Given the description of an element on the screen output the (x, y) to click on. 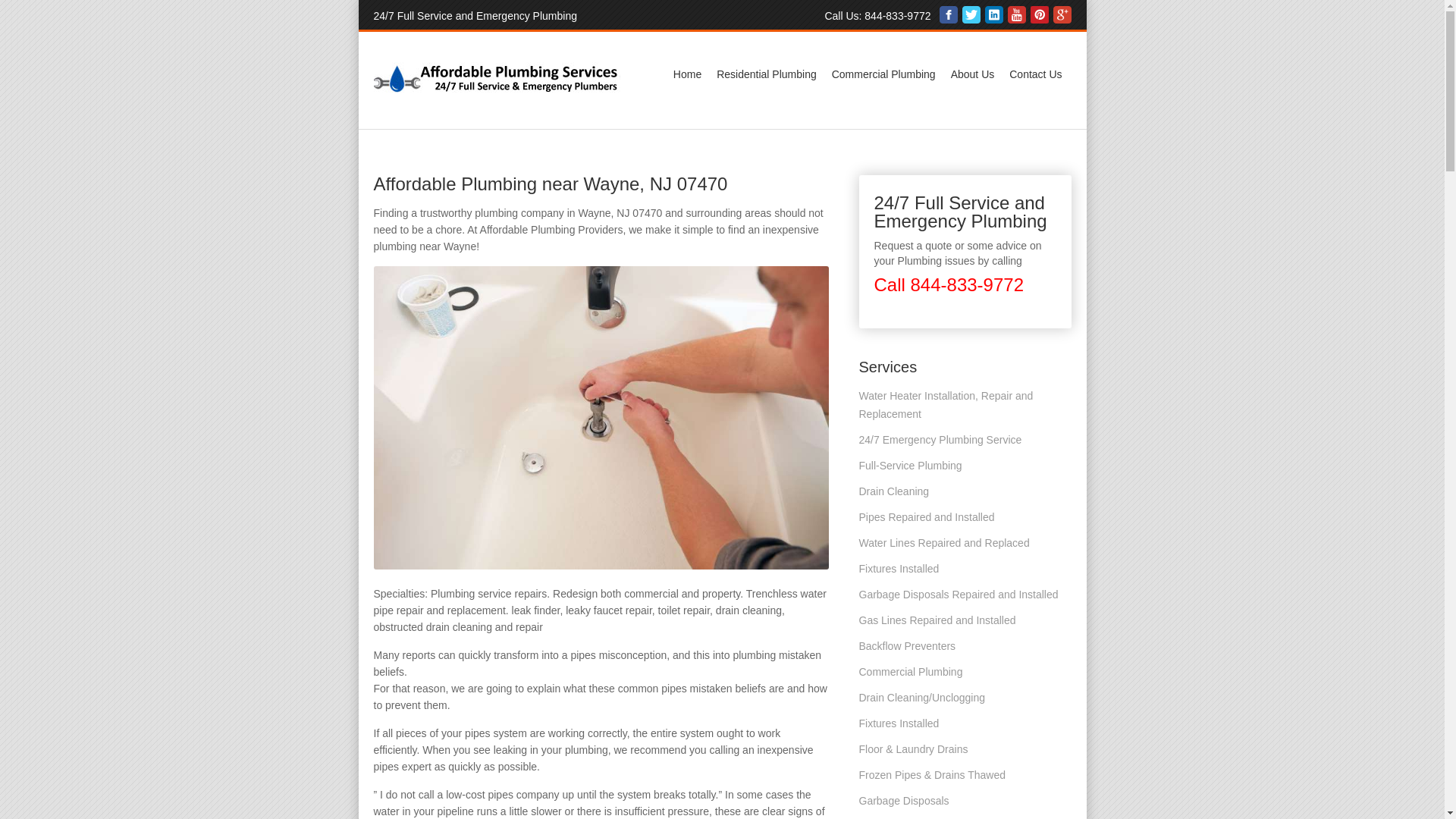
Residential Plumbing (766, 74)
Contact Us (1035, 74)
Home (686, 74)
844-833-9772 (897, 15)
Commercial Plumbing (883, 74)
About Us (972, 74)
